Given the description of an element on the screen output the (x, y) to click on. 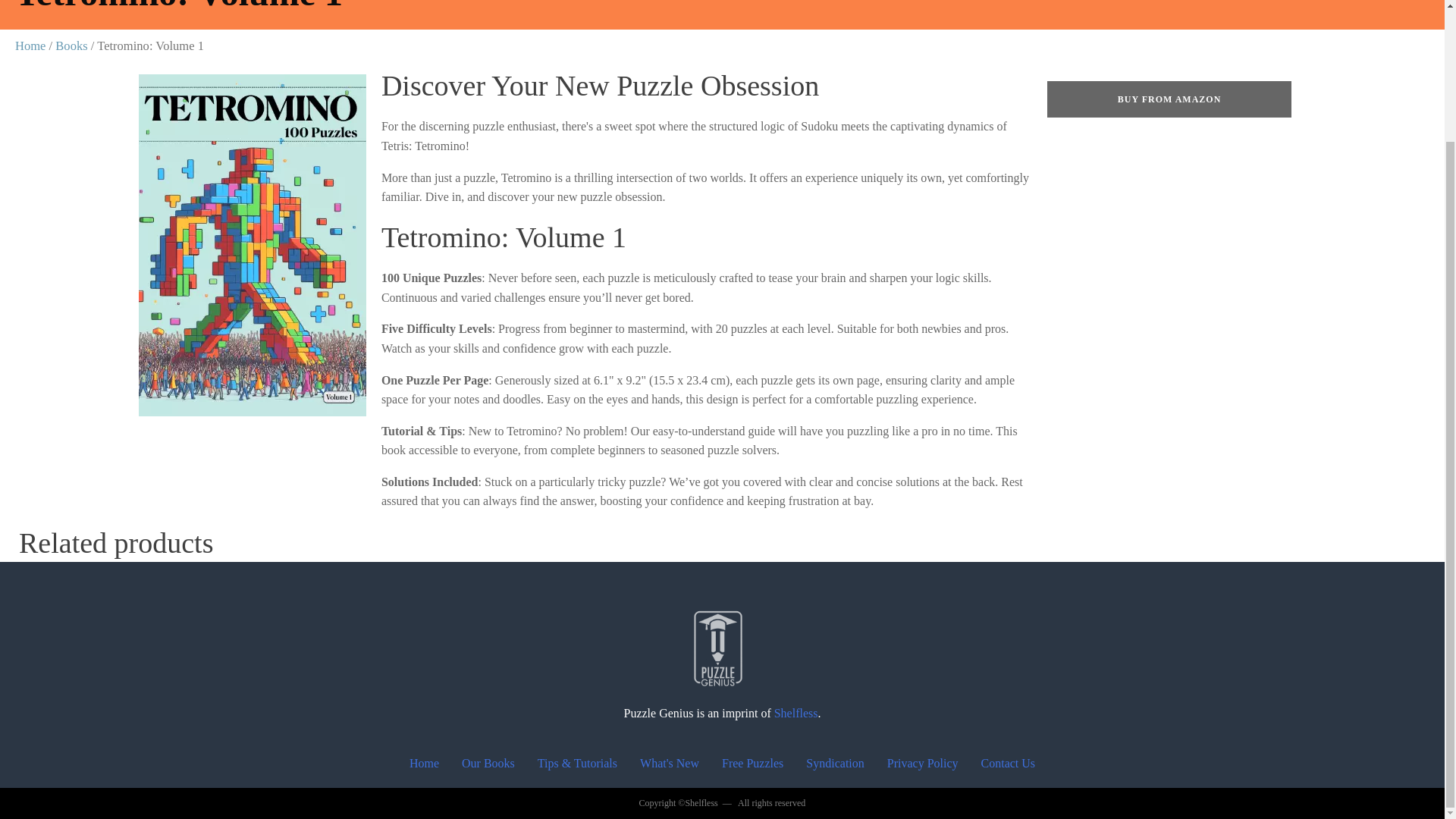
BUY FROM AMAZON (1168, 99)
Home (29, 45)
Shelfless (796, 712)
Books (71, 45)
Home (423, 763)
